Given the description of an element on the screen output the (x, y) to click on. 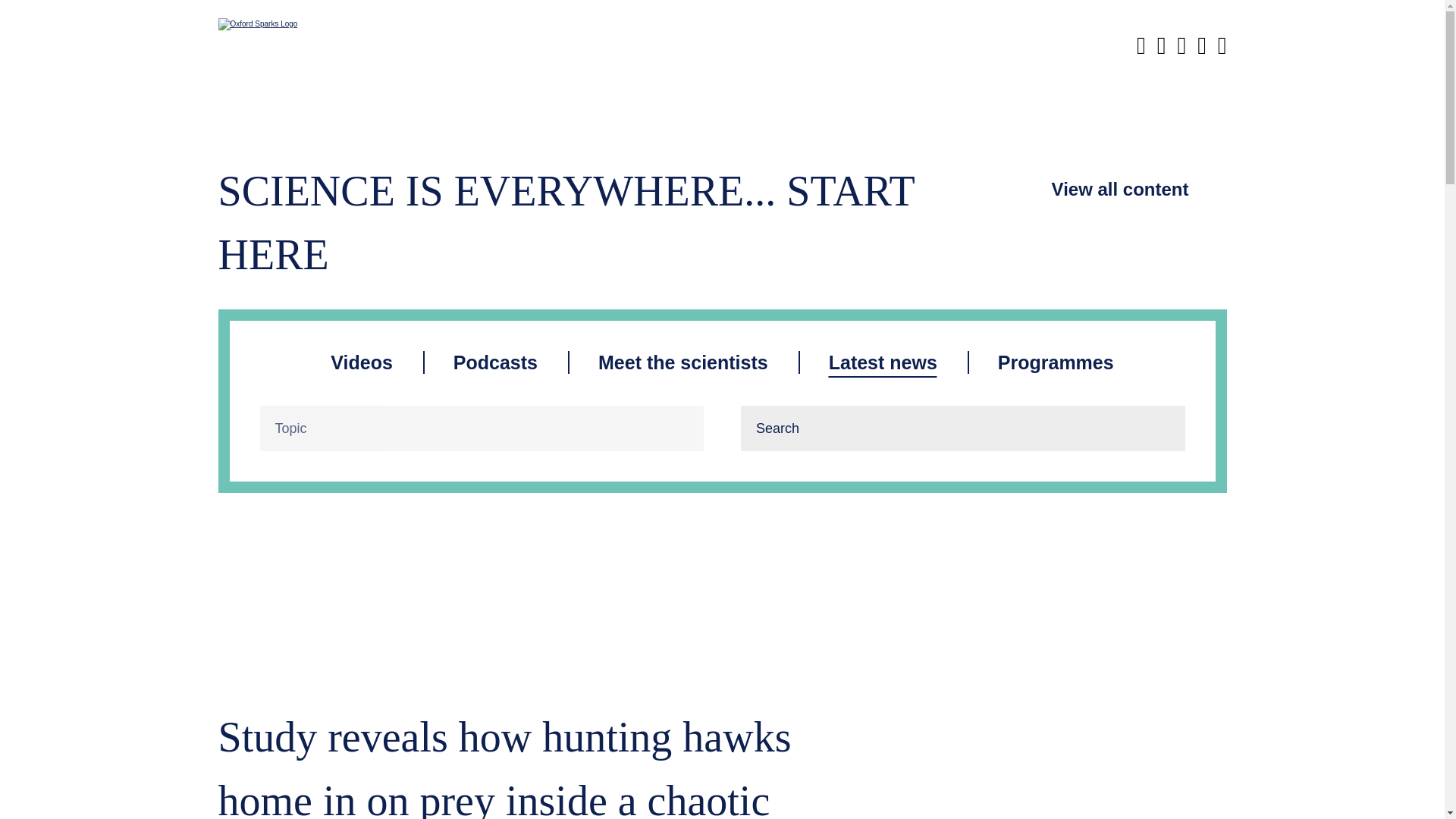
Latest news (882, 362)
Meet the scientists (683, 362)
View all content (1120, 189)
Oxford Sparks (273, 24)
Videos (361, 362)
Search (1161, 428)
Programmes (1055, 362)
Podcasts (494, 362)
